Given the description of an element on the screen output the (x, y) to click on. 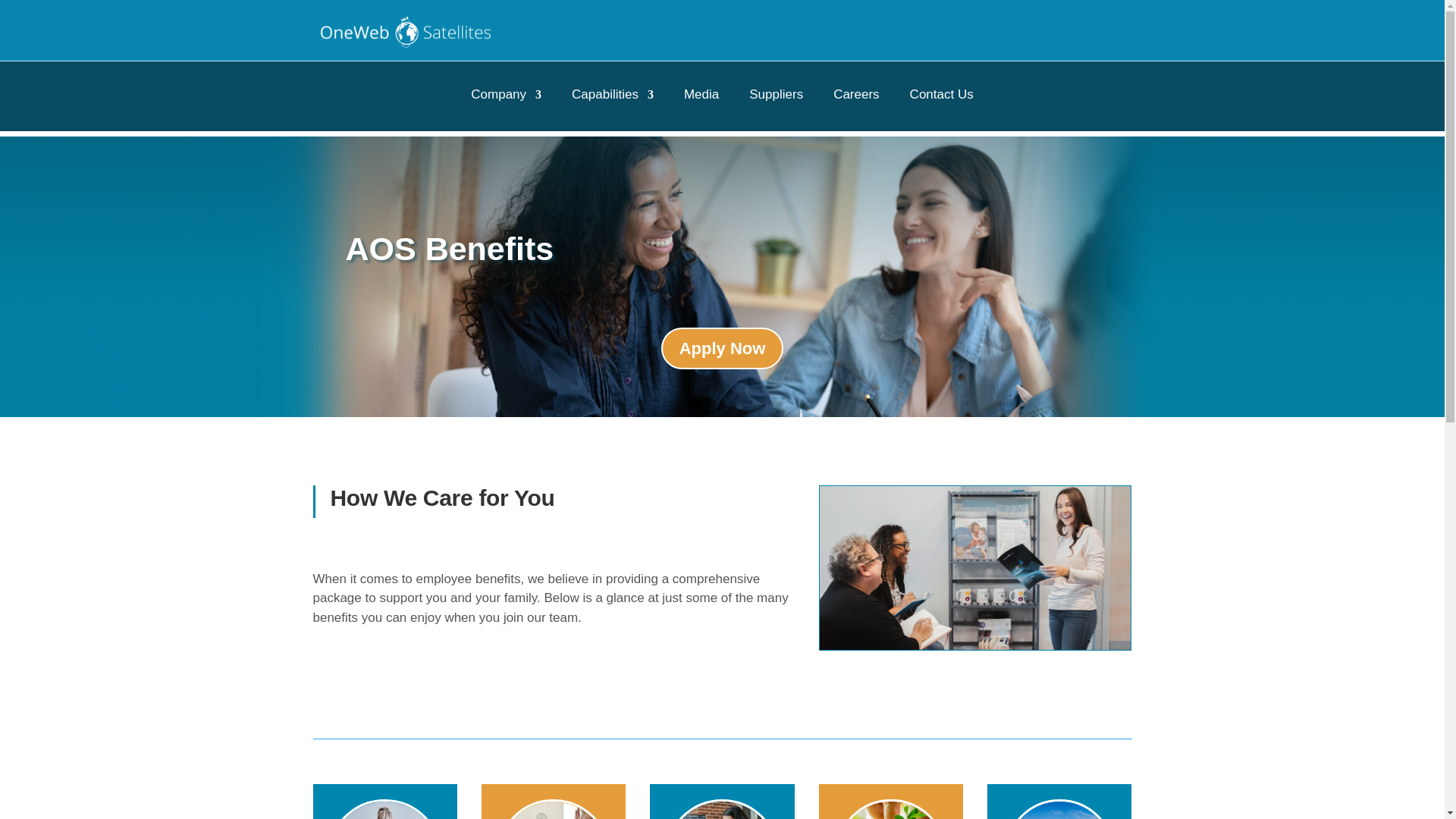
OneWebSatellite-white-hrz (405, 31)
Media (701, 97)
Company (505, 97)
Contact Us (942, 97)
Apply Now (722, 348)
Tiff and HR-opt3 (975, 568)
Careers (855, 97)
Suppliers (776, 97)
Capabilities (612, 97)
